Given the description of an element on the screen output the (x, y) to click on. 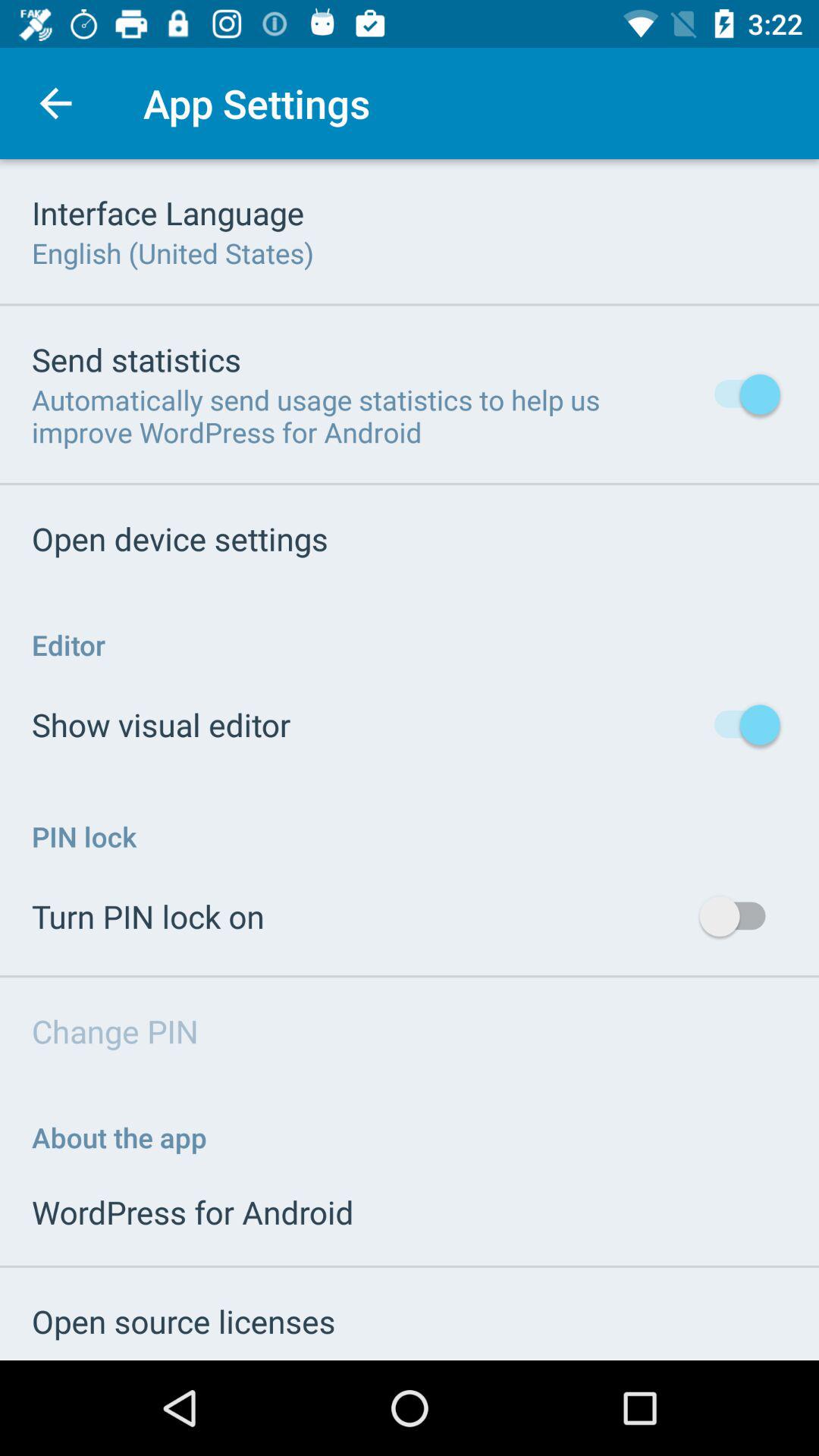
click about the app (119, 1137)
